Given the description of an element on the screen output the (x, y) to click on. 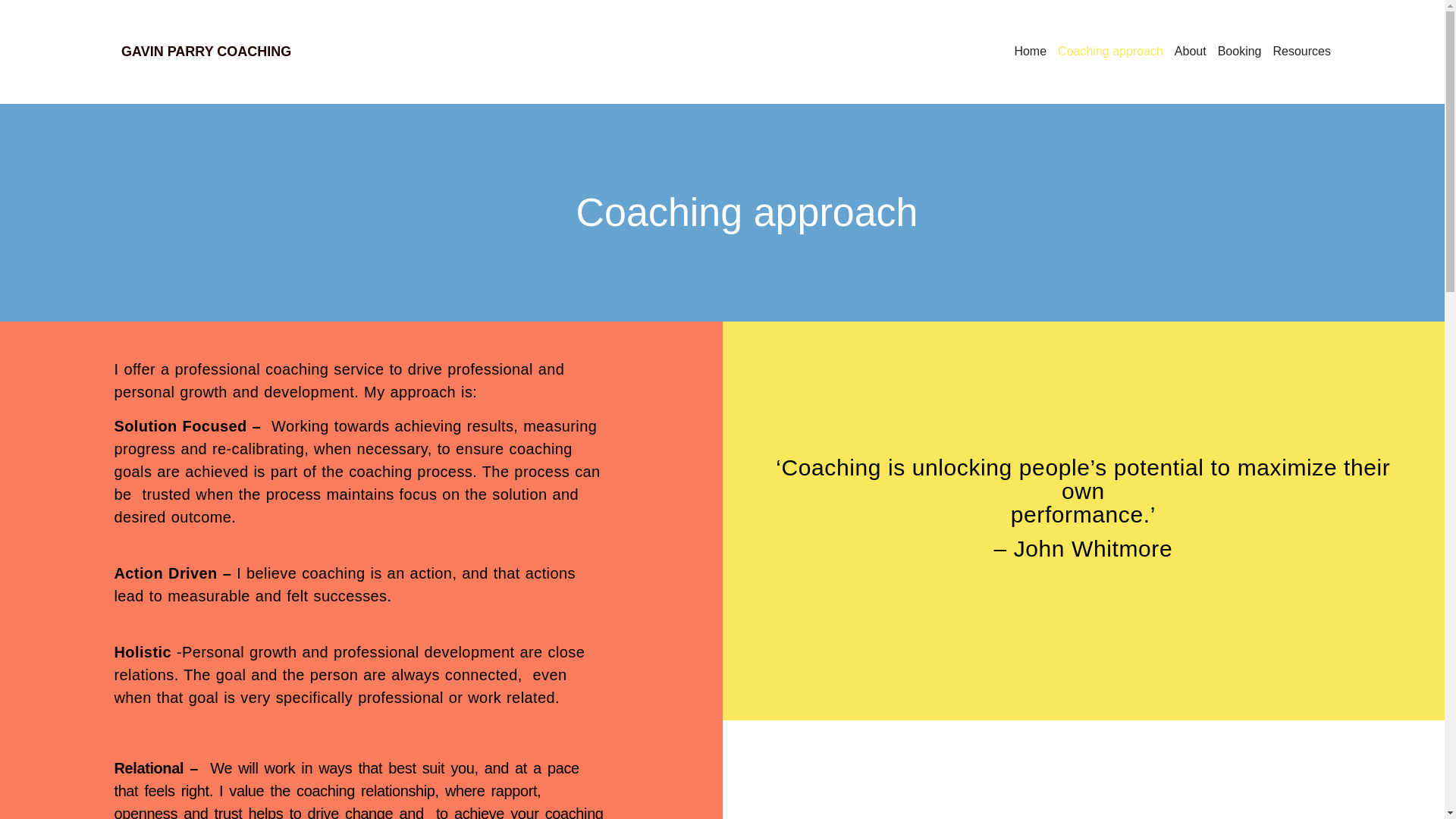
About (1190, 51)
Booking (1239, 51)
Home (1029, 51)
Resources (1301, 51)
GAVIN PARRY COACHING (205, 51)
Coaching approach (1110, 51)
